Given the description of an element on the screen output the (x, y) to click on. 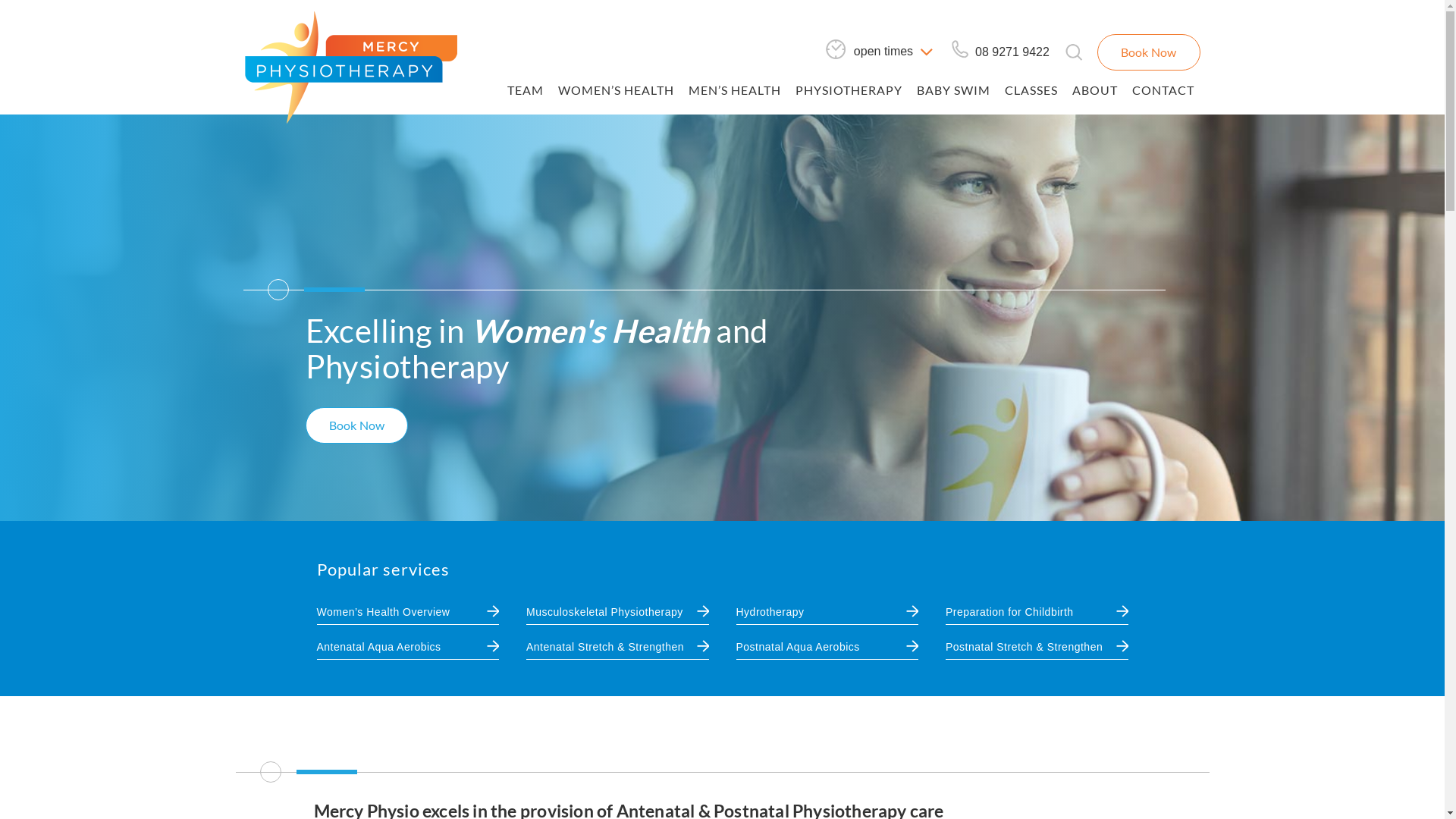
BABY SWIM Element type: text (952, 92)
Antenatal Aqua Aerobics Element type: text (378, 646)
Postnatal Stretch & Strengthen Element type: text (1023, 646)
Postnatal Aqua Aerobics Element type: text (797, 646)
ABOUT Element type: text (1094, 92)
CONTACT Element type: text (1162, 92)
Musculoskeletal Physiotherapy Element type: text (604, 611)
Book Now Element type: text (1148, 52)
Preparation for Childbirth Element type: text (1009, 611)
open times Element type: text (878, 52)
CLASSES Element type: text (1030, 92)
Hydrotherapy Element type: text (769, 611)
PHYSIOTHERAPY Element type: text (847, 92)
Antenatal Stretch & Strengthen Element type: text (605, 646)
TEAM Element type: text (524, 92)
08 9271 9422 Element type: text (999, 52)
Book Now Element type: text (355, 425)
